Given the description of an element on the screen output the (x, y) to click on. 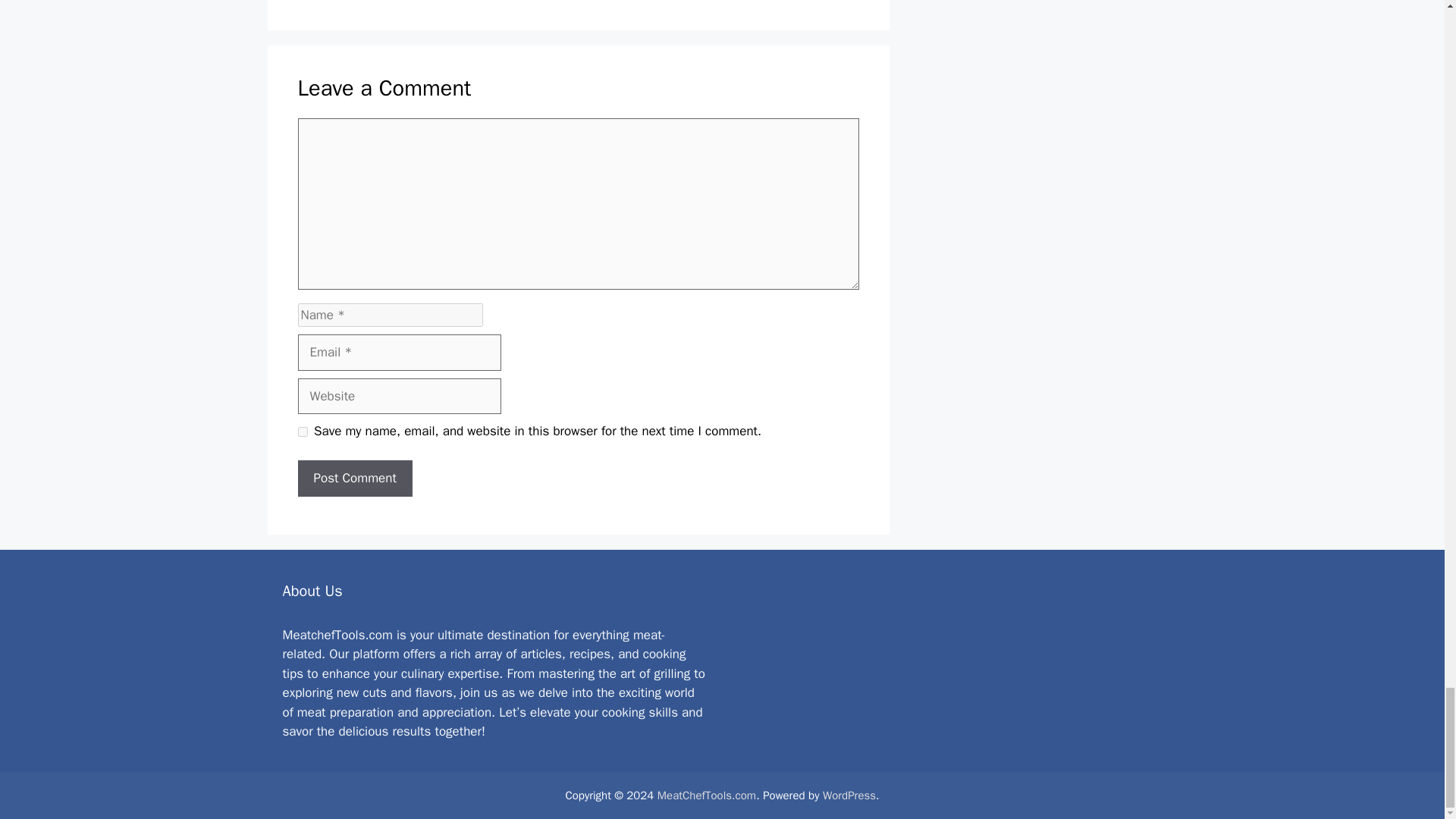
Post Comment (354, 478)
yes (302, 431)
Post Comment (354, 478)
